Given the description of an element on the screen output the (x, y) to click on. 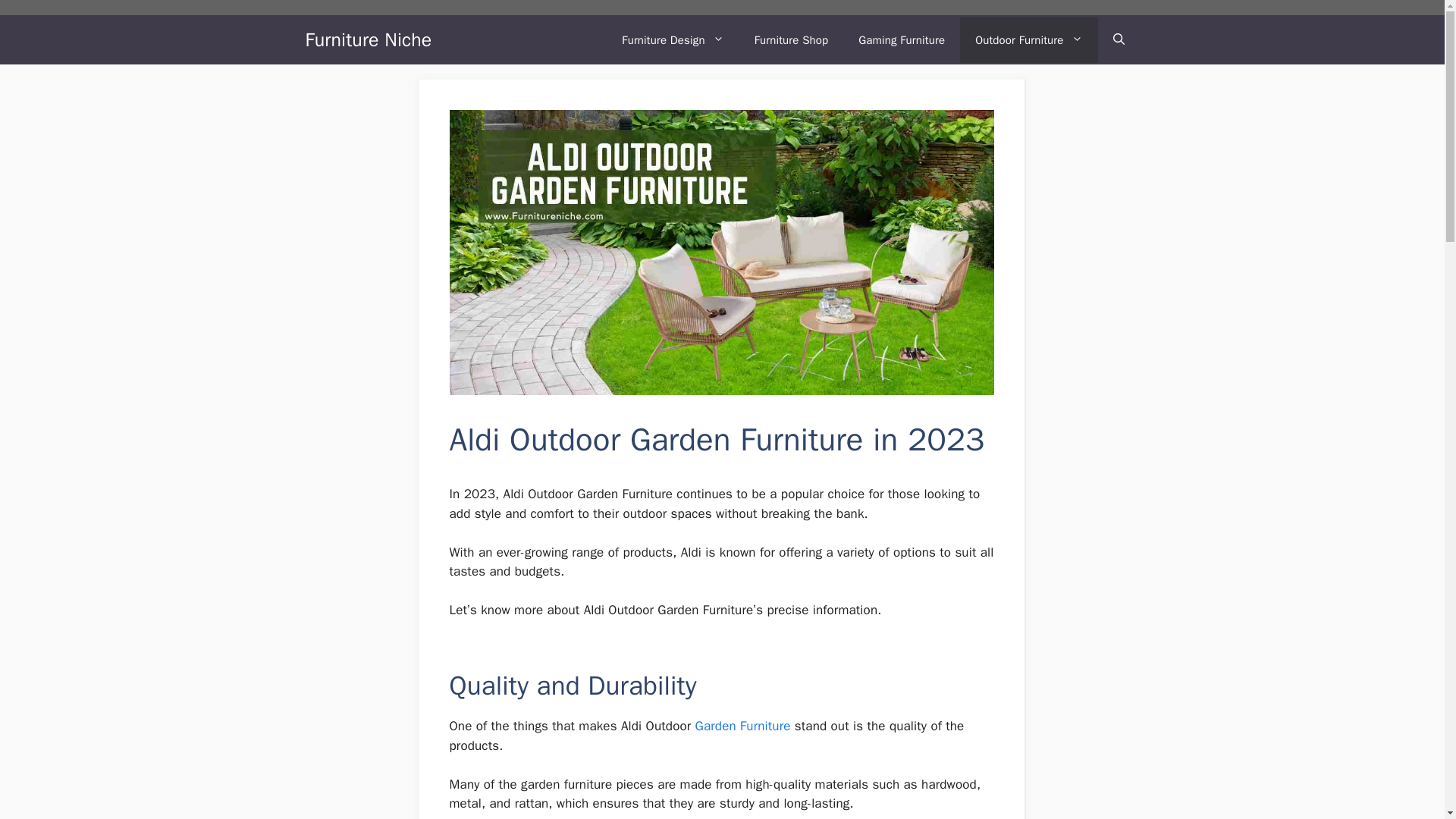
Furniture Design (672, 39)
Garden Furniture (742, 725)
Gaming Furniture (901, 39)
Furniture Shop (791, 39)
Furniture Niche (367, 39)
Outdoor Furniture (1028, 39)
